Given the description of an element on the screen output the (x, y) to click on. 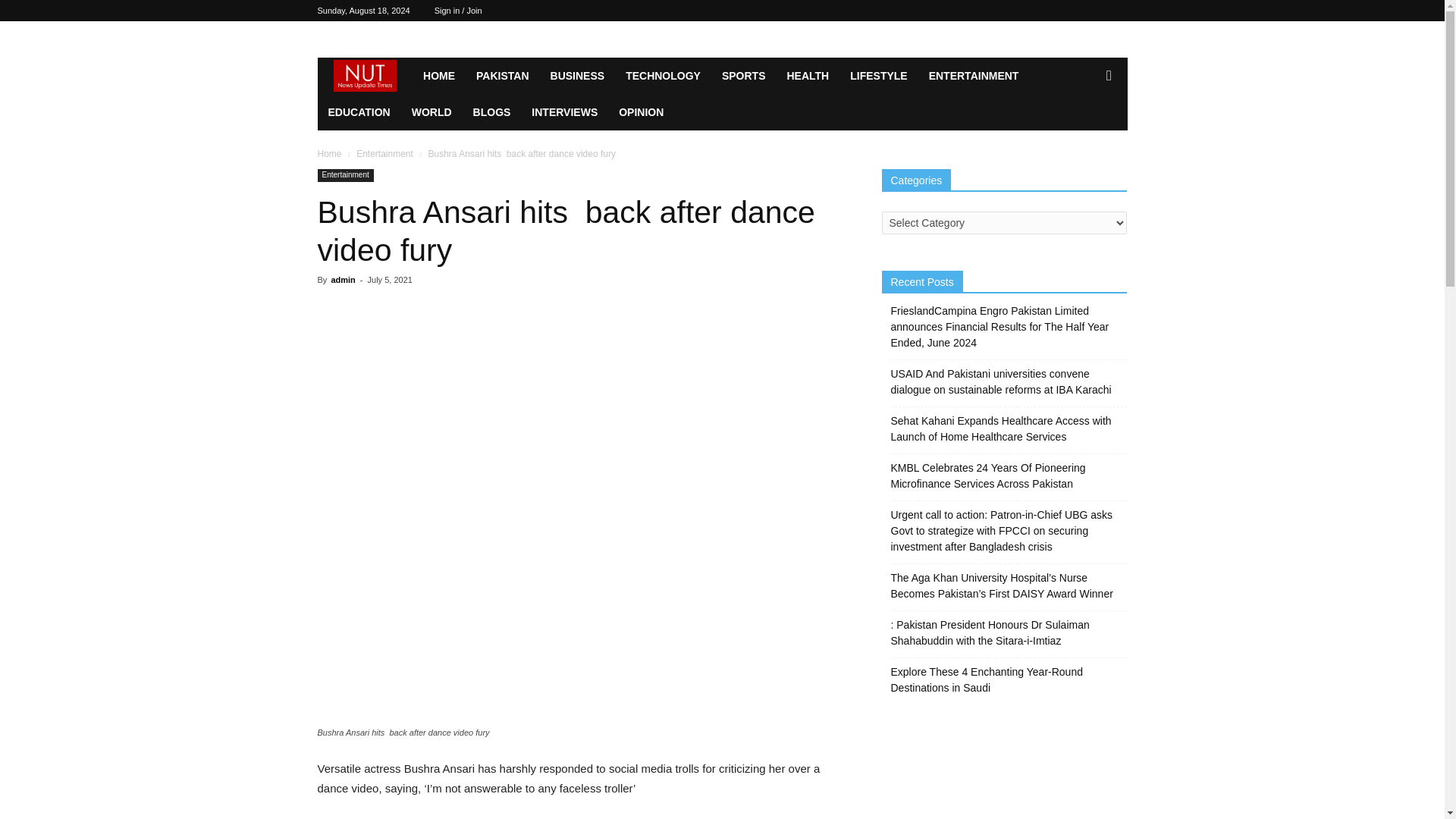
BUSINESS (577, 75)
LIFESTYLE (878, 75)
News Update Times (364, 76)
View all posts in Entertainment (384, 153)
SPORTS (743, 75)
WORLD (432, 112)
PAKISTAN (501, 75)
TECHNOLOGY (662, 75)
ENTERTAINMENT (973, 75)
HEALTH (808, 75)
